Given the description of an element on the screen output the (x, y) to click on. 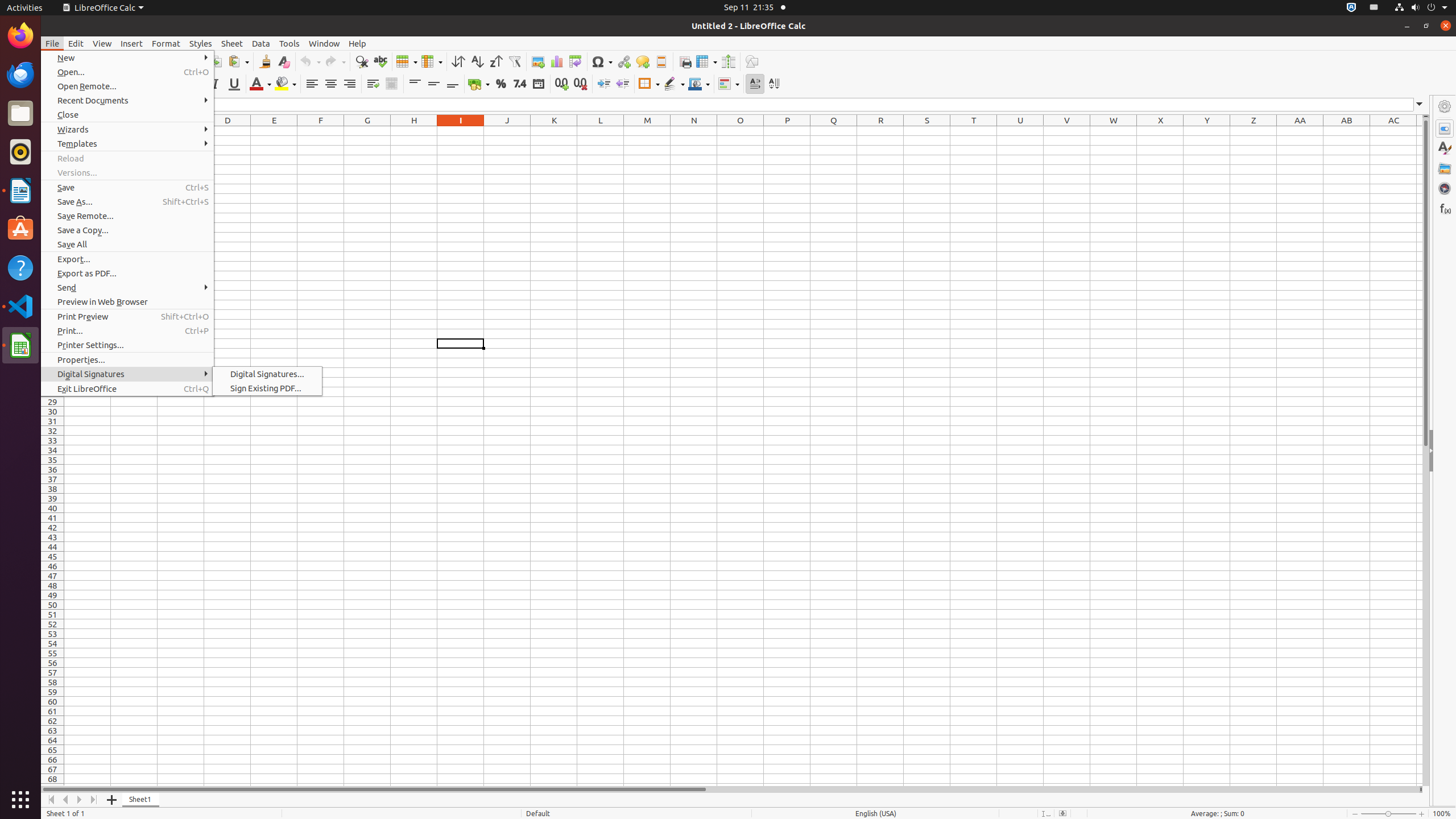
Merge and Center Cells Element type: push-button (391, 83)
Move Right Element type: push-button (79, 799)
Q1 Element type: table-cell (833, 130)
Symbol Element type: push-button (601, 61)
U1 Element type: table-cell (1020, 130)
